Given the description of an element on the screen output the (x, y) to click on. 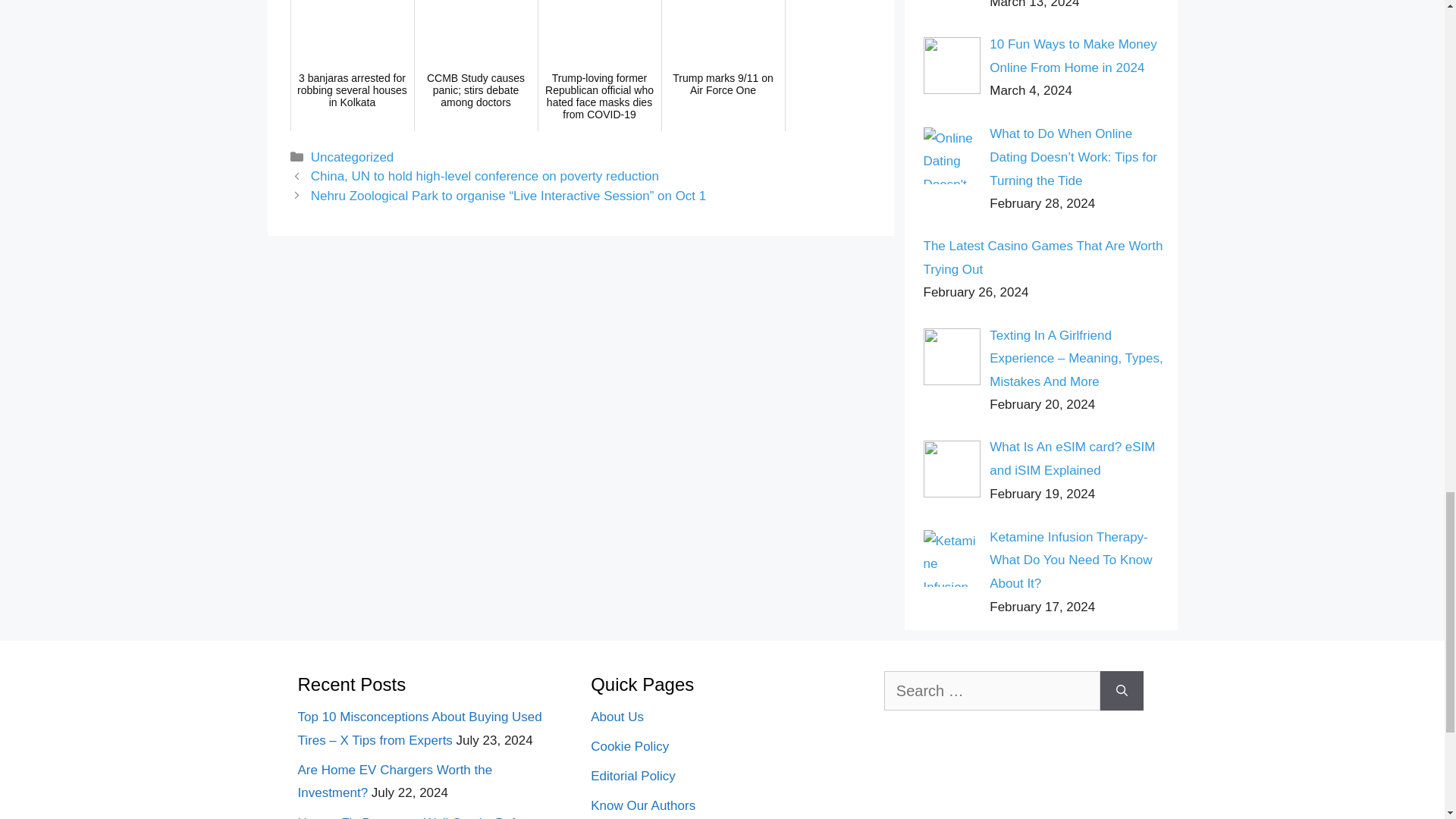
Ketamine Infusion Therapy-What Do You Need To Know About It? (1070, 559)
CCMB Study causes panic; stirs debate among doctors (475, 65)
10 Fun Ways to Make Money Online From Home in 2024 (1073, 55)
Uncategorized (352, 156)
Search for: (991, 690)
China, UN to hold high-level conference on poverty reduction (485, 175)
The Latest Casino Games That Are Worth Trying Out (1043, 257)
3 banjaras arrested for robbing several houses in Kolkata (351, 65)
What Is An eSIM card? eSIM and iSIM Explained (1072, 458)
